Given the description of an element on the screen output the (x, y) to click on. 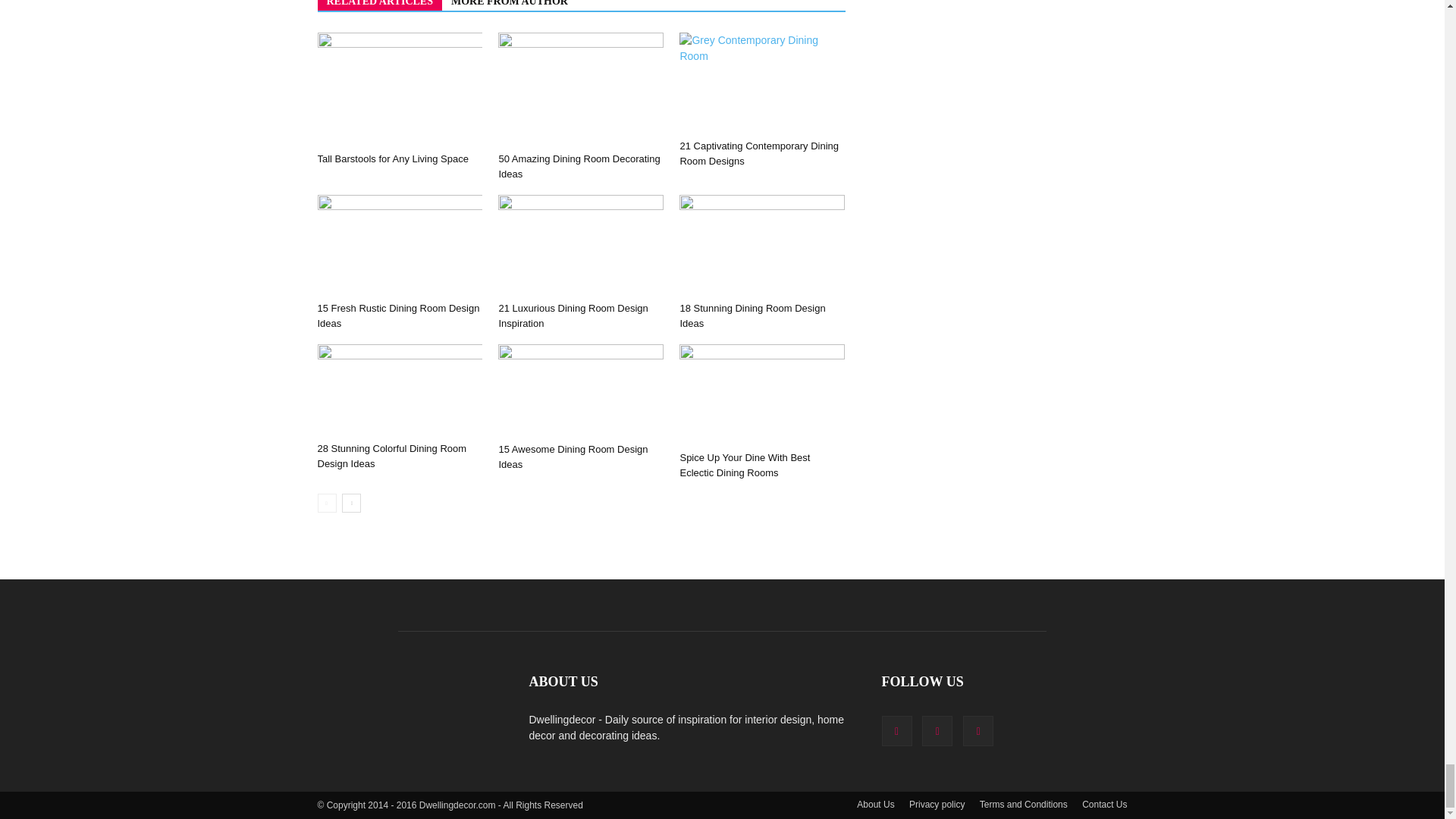
RELATED ARTICLES (379, 5)
Tall Barstools for Any Living Space (392, 158)
50 Amazing Dining Room Decorating Ideas (578, 166)
Tall Barstools for Any Living Space (399, 89)
MORE FROM AUTHOR (509, 5)
50 Amazing Dining Room Decorating Ideas (580, 89)
